Given the description of an element on the screen output the (x, y) to click on. 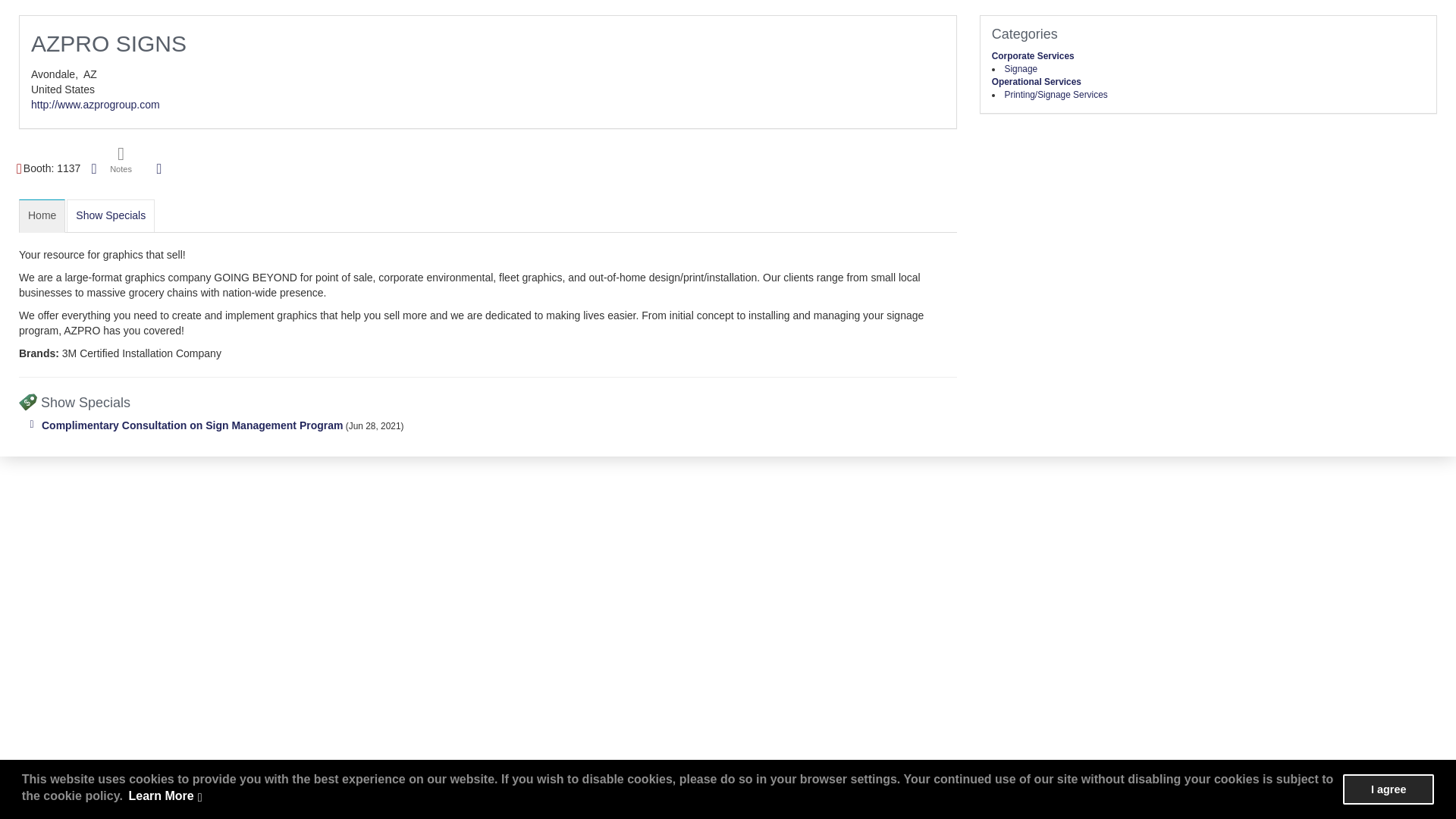
Home (41, 215)
Complimentary Consultation on Sign Management Program (192, 424)
Add To My Exhibitors (158, 168)
Operational Services (1036, 81)
Signage (1021, 68)
Corporate Services (1032, 55)
Show Specials (110, 215)
Print (93, 168)
